Given the description of an element on the screen output the (x, y) to click on. 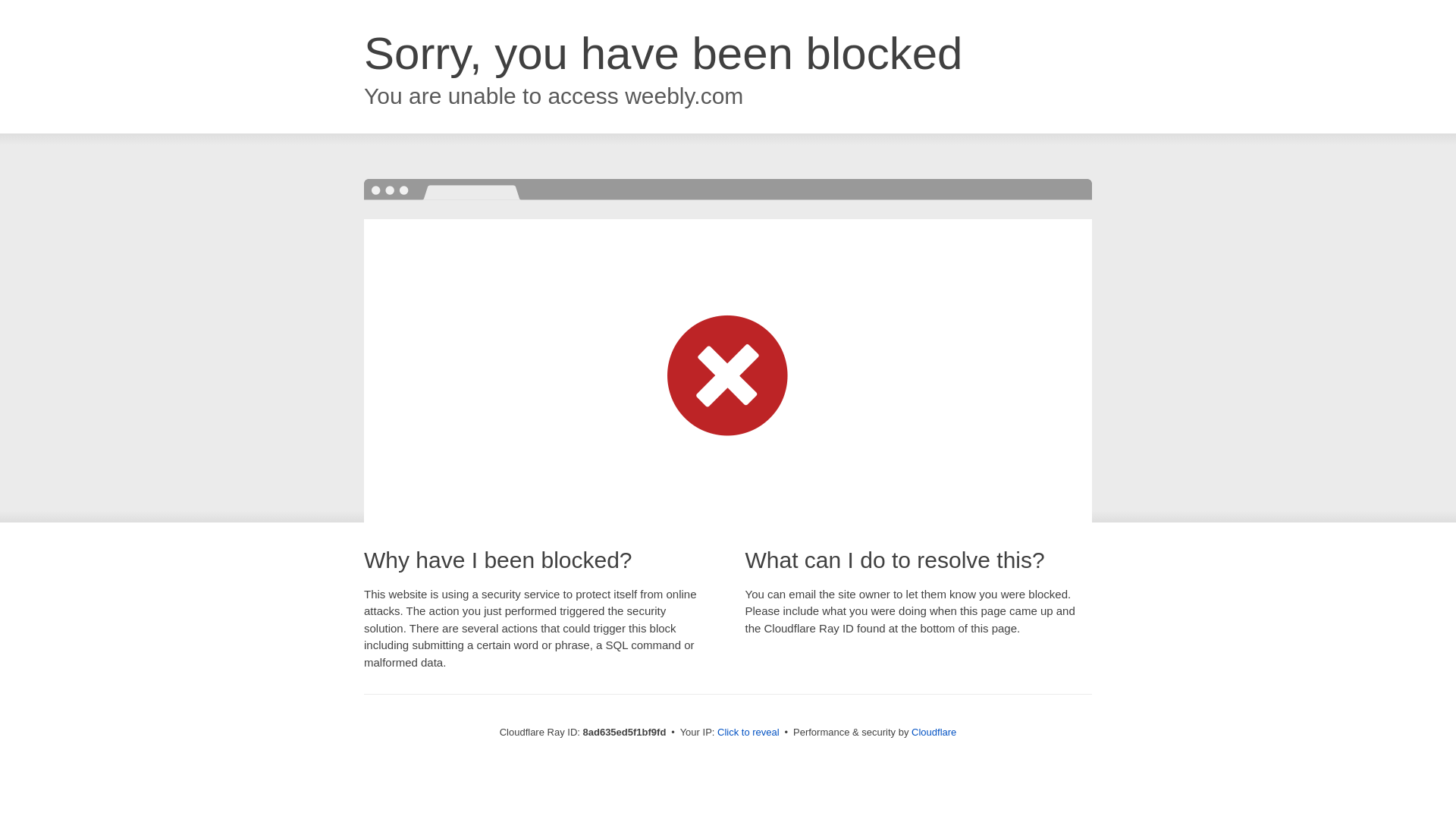
Cloudflare (933, 731)
Click to reveal (747, 732)
